Given the description of an element on the screen output the (x, y) to click on. 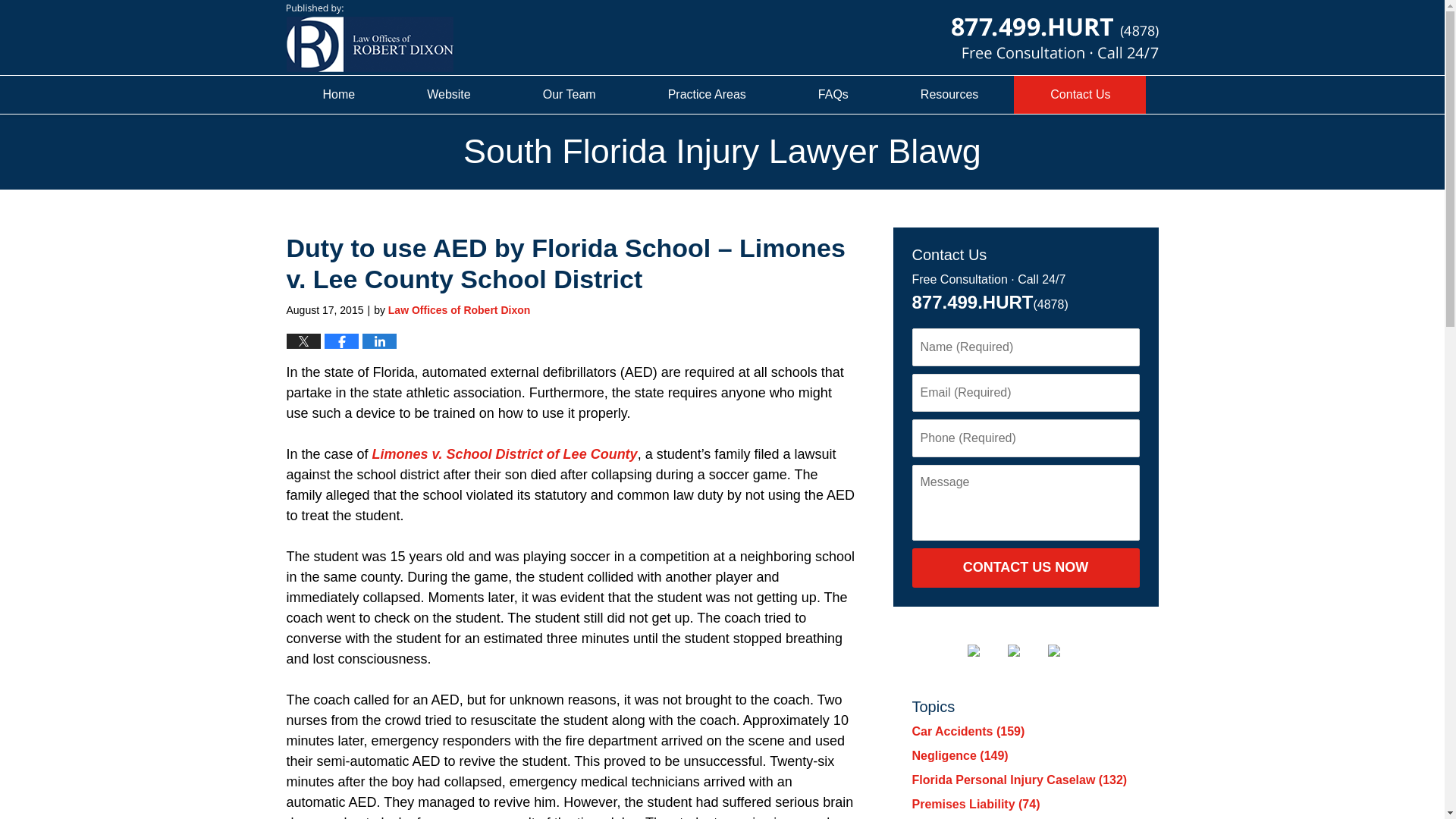
Resources (948, 94)
Justia (1025, 650)
Contact Us (1079, 94)
FAQs (832, 94)
Please enter a valid phone number. (1024, 438)
Website (448, 94)
Limones v. School District of Lee County (504, 453)
Published By Law Offices of Robert Dixon (1053, 37)
Home (338, 94)
Feed (1066, 650)
Our Team (568, 94)
CONTACT US NOW (1024, 567)
Practice Areas (706, 94)
South Florida Injury Lawyer Blawg (369, 38)
Twitter (986, 650)
